Given the description of an element on the screen output the (x, y) to click on. 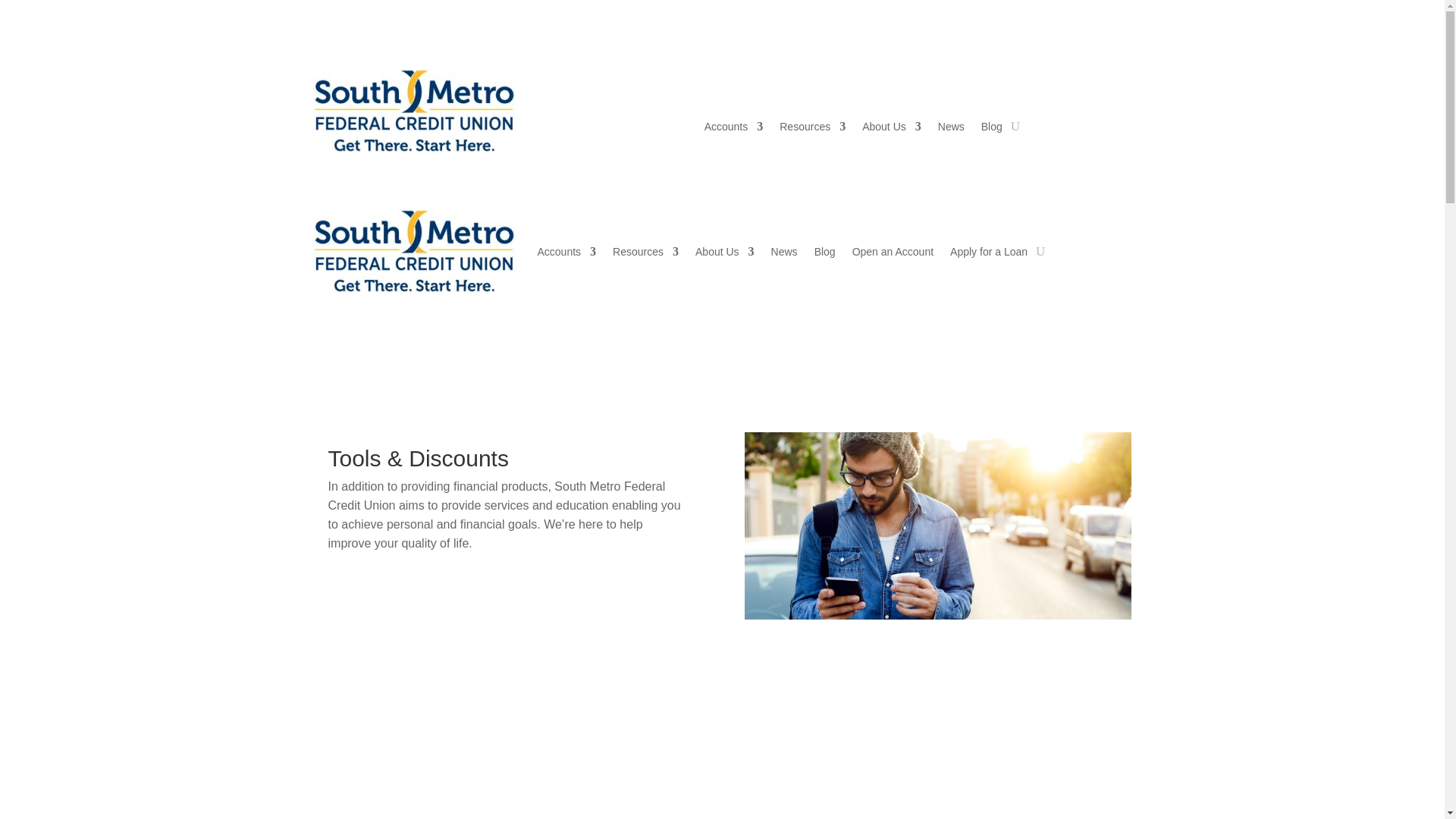
Apply for a Loan (914, 84)
SouthMet FCU logo (413, 110)
About Us (891, 129)
Blog (992, 129)
News (950, 129)
Open an Account (819, 84)
Resources (811, 129)
Accounts (733, 129)
